Given the description of an element on the screen output the (x, y) to click on. 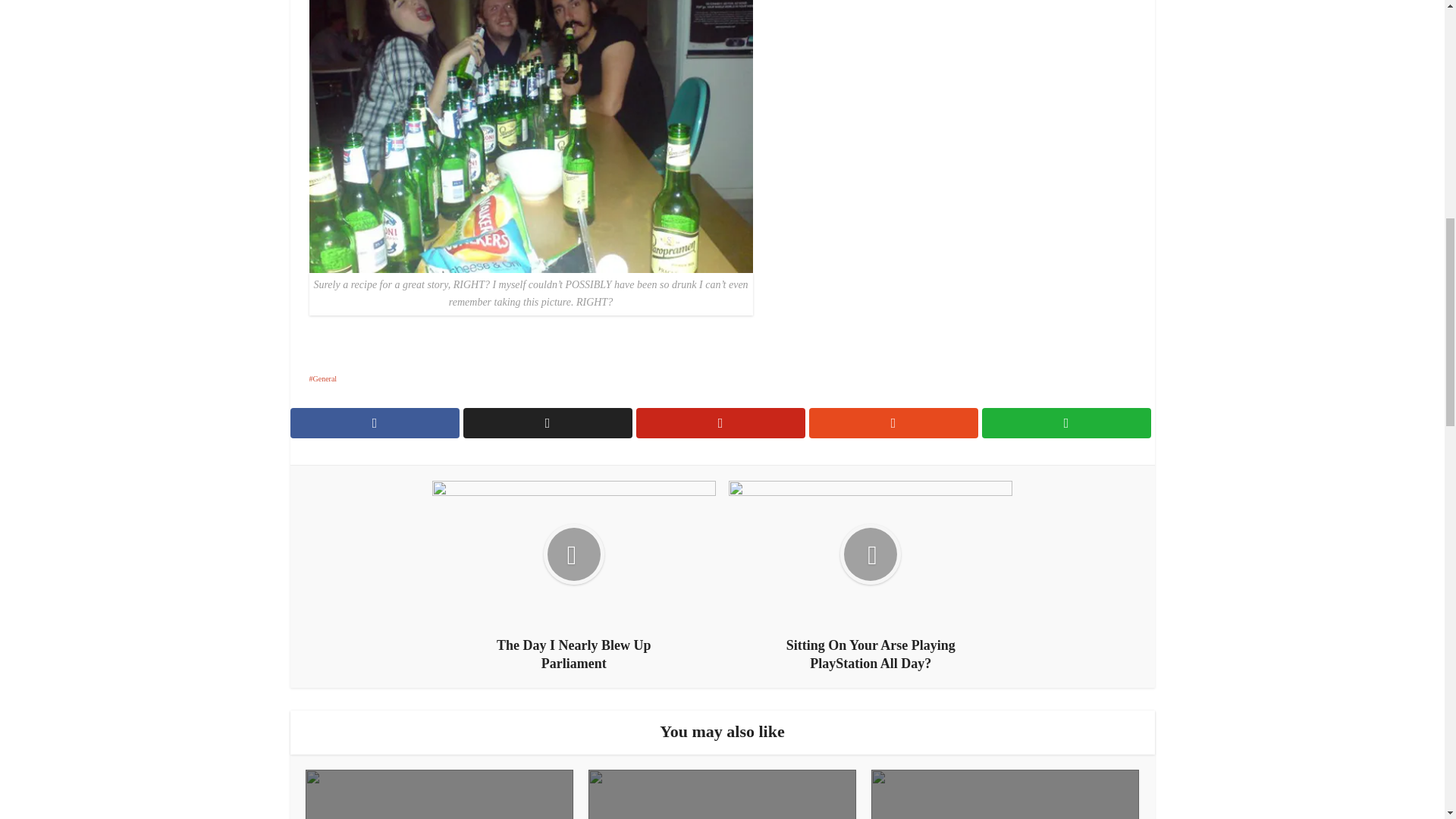
Sitting On Your Arse Playing PlayStation All Day? (870, 575)
General (322, 378)
The Day I Nearly Blew Up Parliament (574, 575)
